Given the description of an element on the screen output the (x, y) to click on. 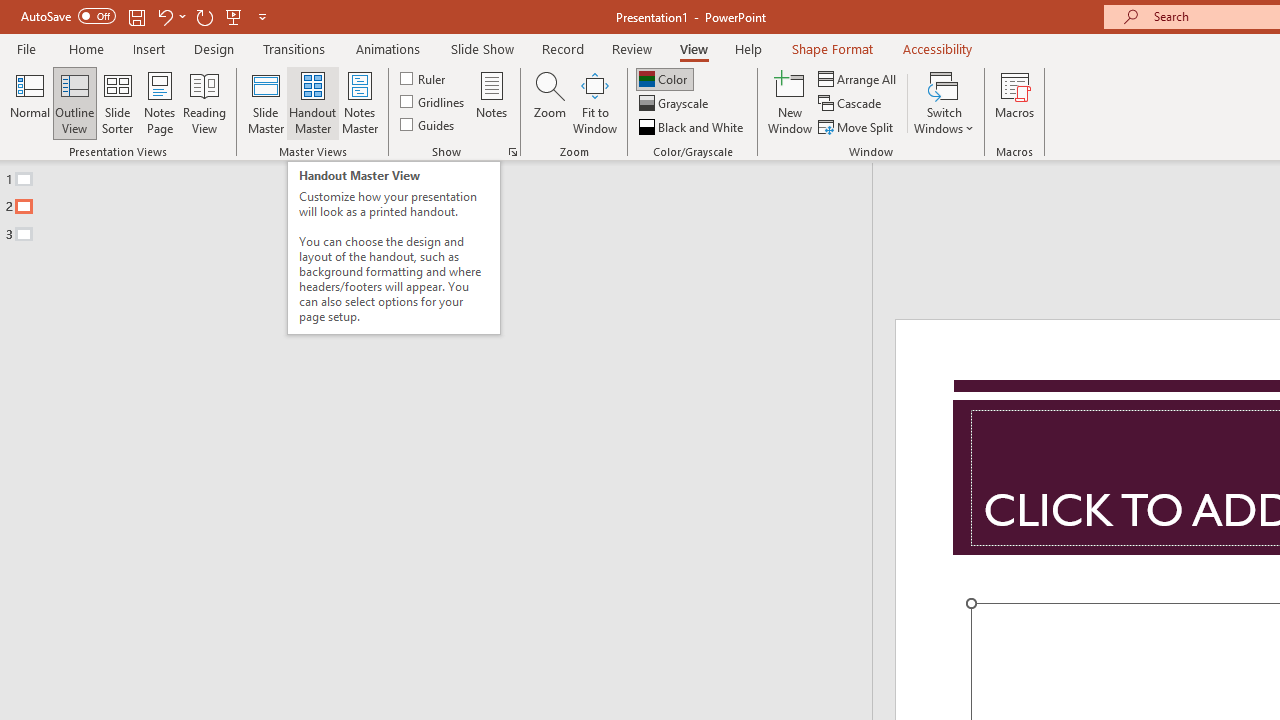
Ruler (423, 78)
Arrange All (858, 78)
Black and White (693, 126)
Cascade (851, 103)
Notes (492, 102)
